Given the description of an element on the screen output the (x, y) to click on. 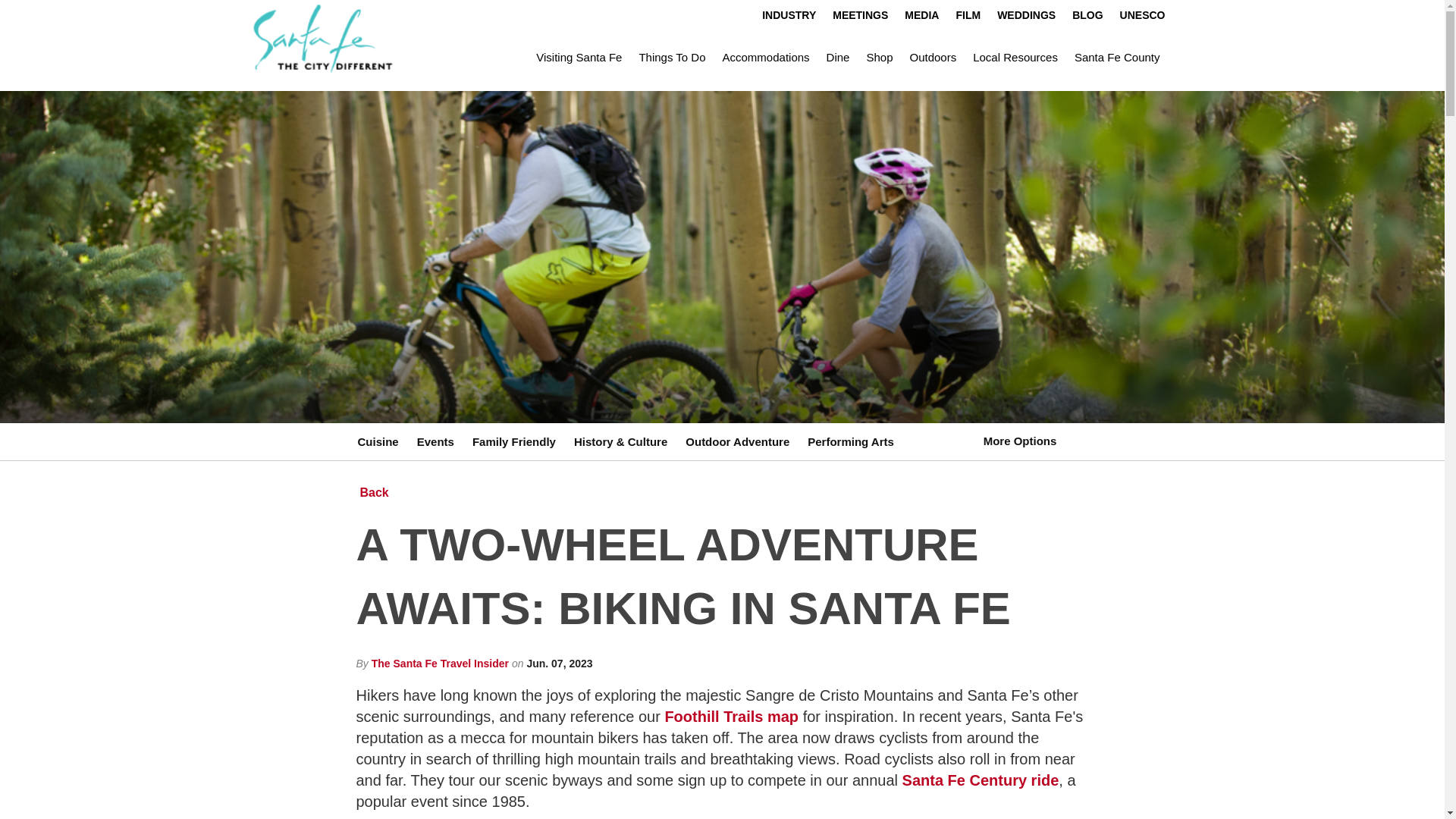
UNESCO (1142, 15)
MEETINGS (860, 15)
MEDIA (921, 15)
FILM (967, 15)
Accommodations (766, 57)
Things To Do (671, 57)
Shop (879, 57)
Dine (838, 57)
Visiting Santa Fe (578, 57)
BLOG (1087, 15)
